Given the description of an element on the screen output the (x, y) to click on. 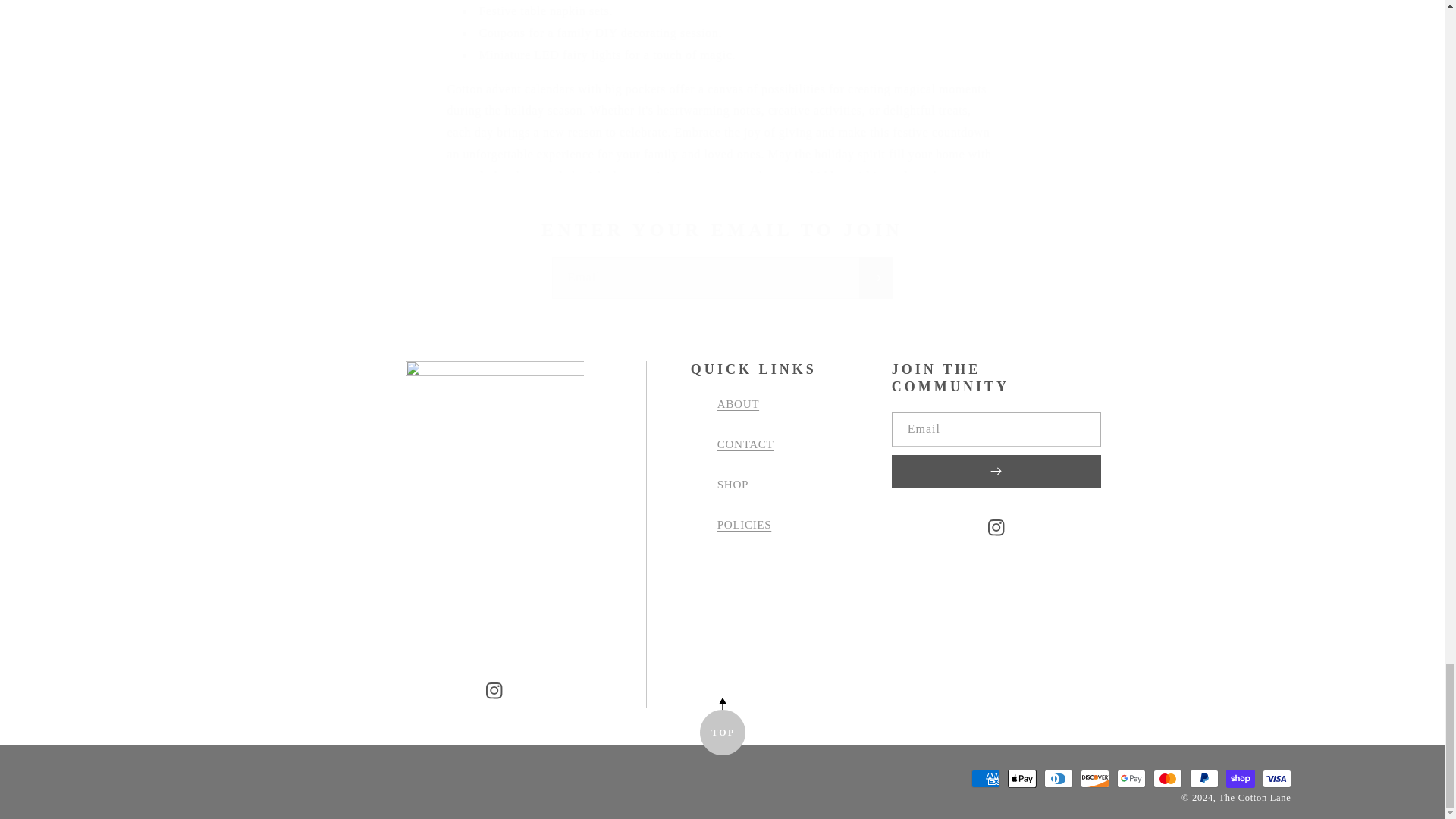
TOP (721, 732)
INSTAGRAM (494, 690)
TOP (721, 732)
Email (722, 277)
ENTER YOUR EMAIL TO JOIN (721, 229)
ABOUT (738, 410)
